Given the description of an element on the screen output the (x, y) to click on. 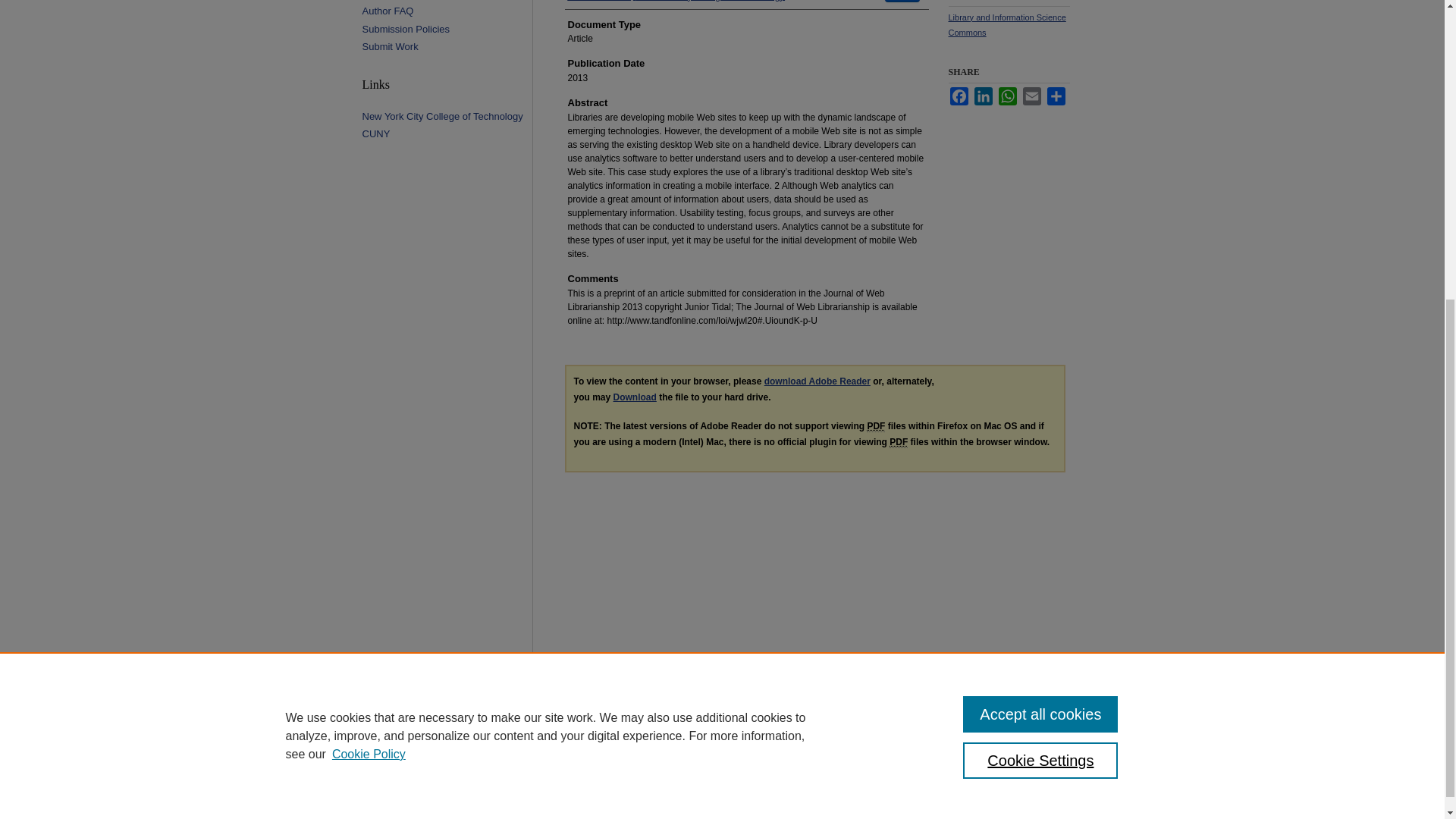
Email (1031, 95)
Portable Document Format (875, 426)
Follow Junior R. Tidal (902, 1)
Download (634, 397)
Adobe - Adobe Reader download (817, 380)
download Adobe Reader (817, 380)
Library and Information Science Commons (1006, 24)
Junior R. Tidal, New York City College of Technology (675, 1)
LinkedIn (982, 95)
WhatsApp (1006, 95)
Follow (902, 1)
Library and Information Science Commons (1006, 24)
Facebook (958, 95)
Share (1055, 95)
